Given the description of an element on the screen output the (x, y) to click on. 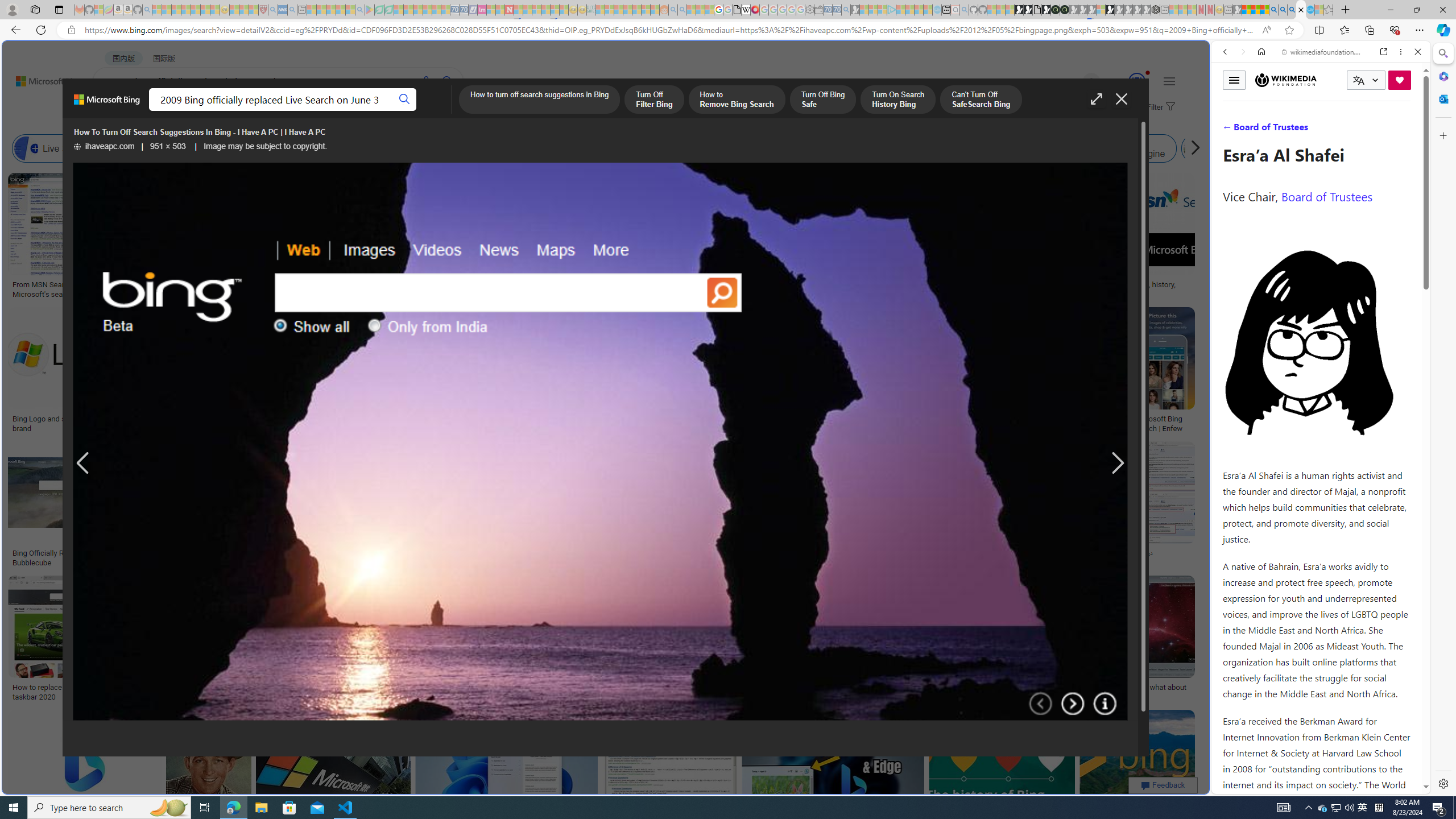
Image may be subject to copyright. (265, 146)
Target page - Wikipedia (745, 9)
Bing Voice Search (156, 148)
Bing Logo and symbol, meaning, history, PNG, brandSave (98, 371)
Owner of Bing Search Engine (1067, 148)
Bing Word Search (368, 148)
